Given the description of an element on the screen output the (x, y) to click on. 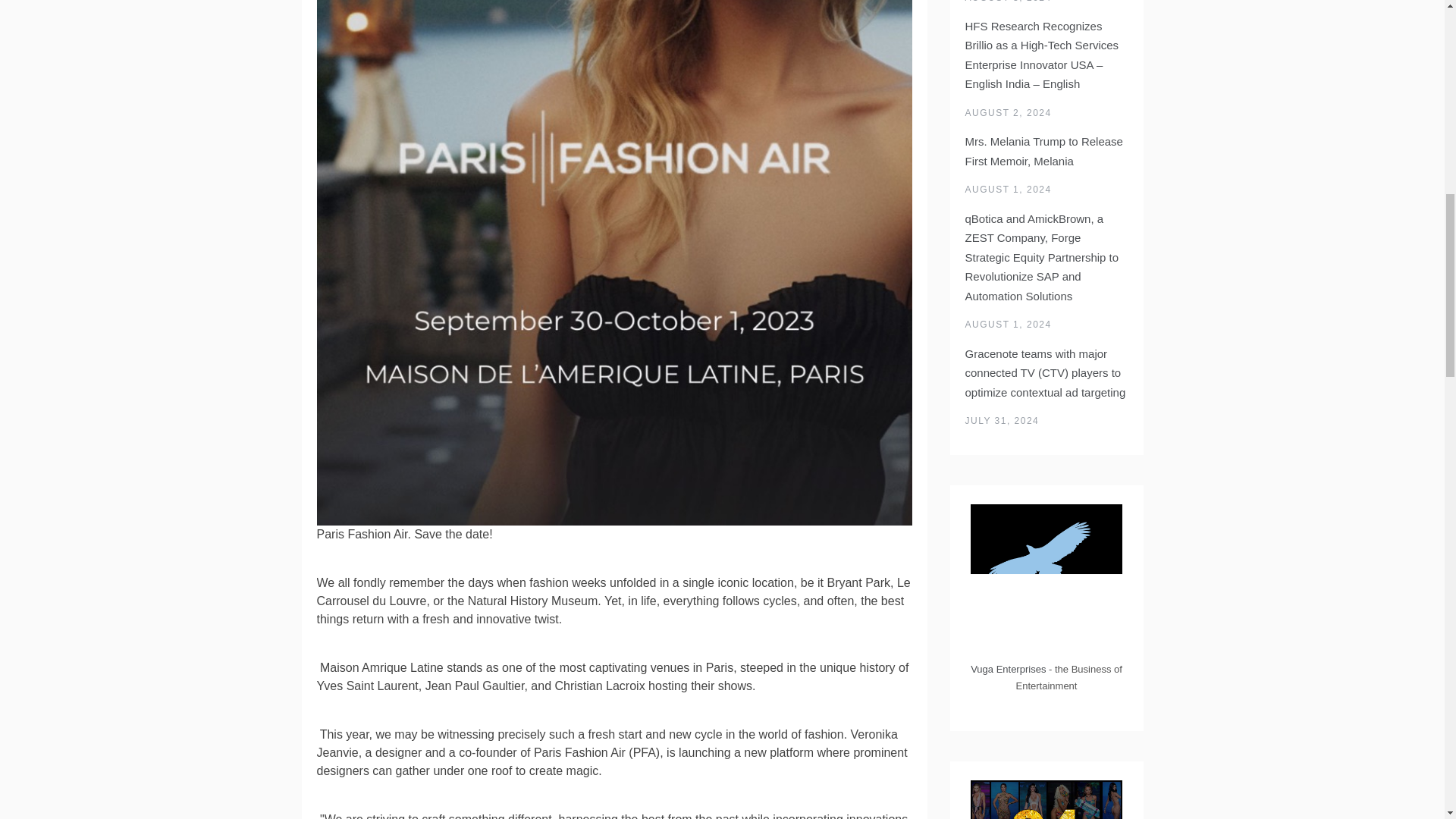
Vuga Enterprises (1008, 668)
Mrs. Melania Trump to Release First Memoir, Melania (1042, 151)
